Given the description of an element on the screen output the (x, y) to click on. 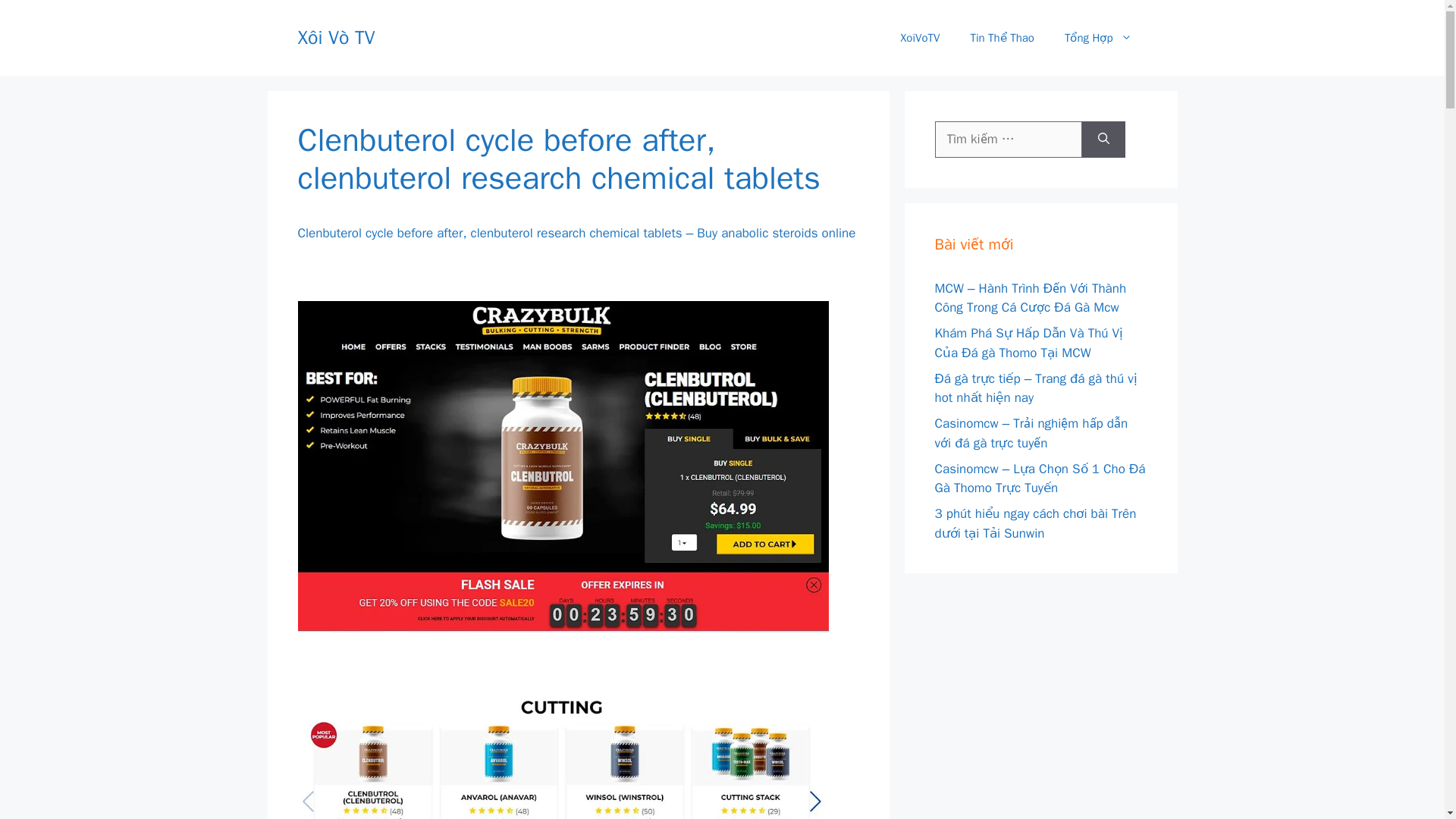
XoiVoTV (920, 37)
cycle clenbuterol before after (562, 757)
